Given the description of an element on the screen output the (x, y) to click on. 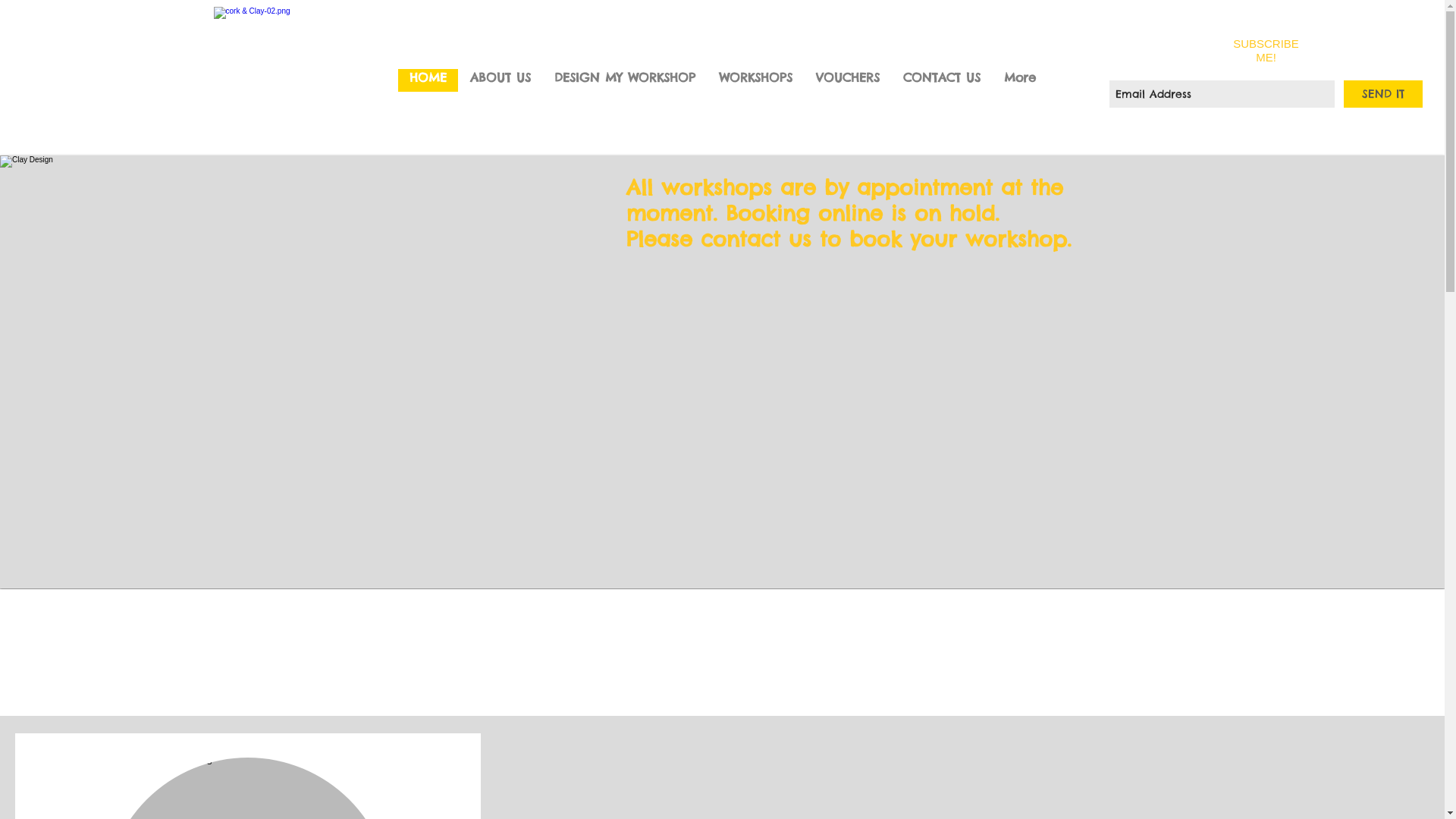
HOME Element type: text (427, 80)
CONTACT US Element type: text (940, 80)
ABOUT US Element type: text (500, 80)
DESIGN MY WORKSHOP Element type: text (623, 80)
SEND IT Element type: text (1382, 93)
VOUCHERS Element type: text (847, 80)
WORKSHOPS Element type: text (754, 80)
